Given the description of an element on the screen output the (x, y) to click on. 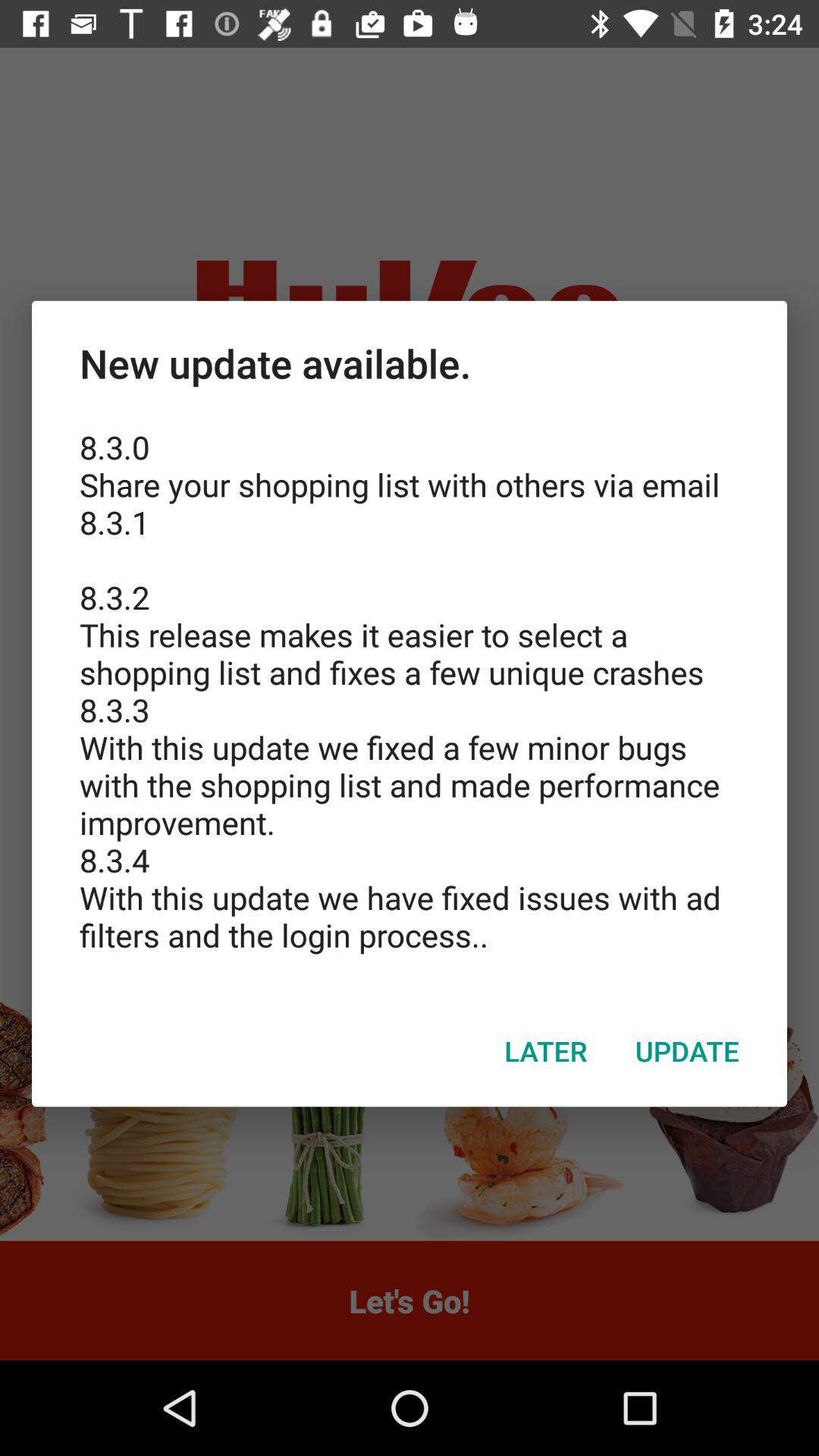
choose later item (545, 1050)
